Given the description of an element on the screen output the (x, y) to click on. 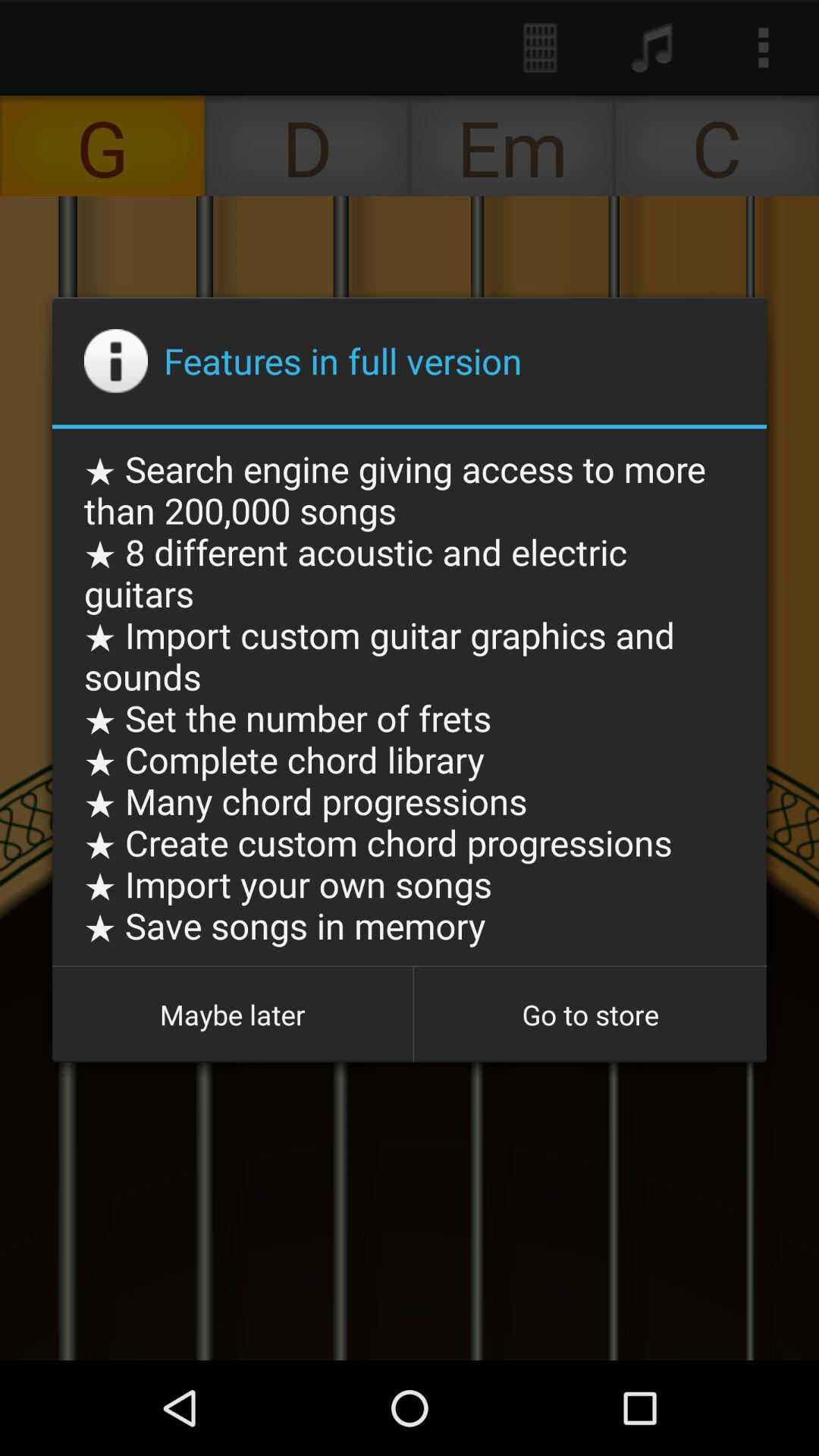
choose the button next to go to store (232, 1014)
